Given the description of an element on the screen output the (x, y) to click on. 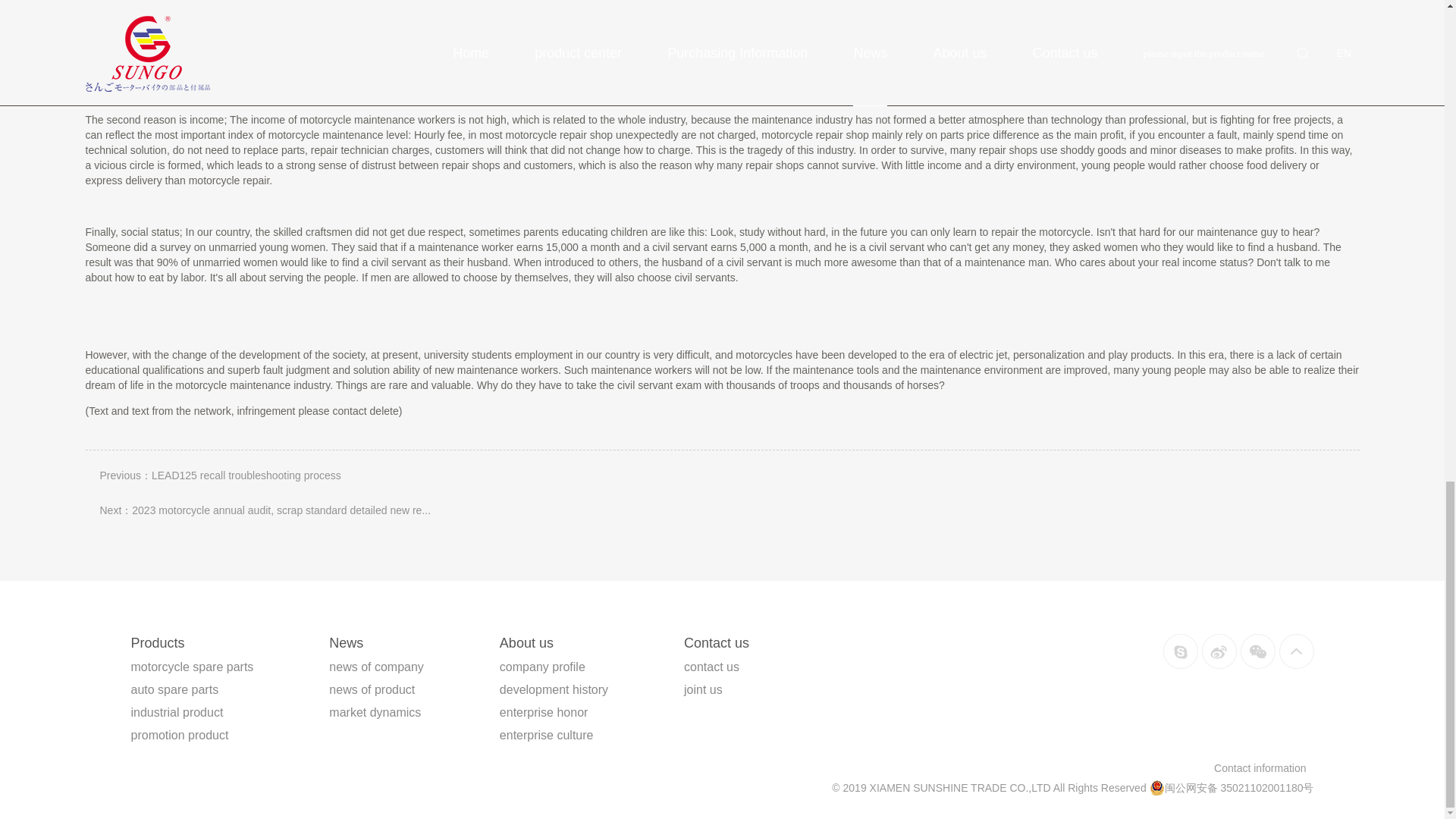
motorcycle spare parts (192, 666)
share to Sina Weibo (1218, 651)
news of company (376, 666)
news of product (371, 689)
share to WeChat (1257, 651)
industrial product (176, 712)
auto spare parts (174, 689)
promotion product (179, 735)
